Given the description of an element on the screen output the (x, y) to click on. 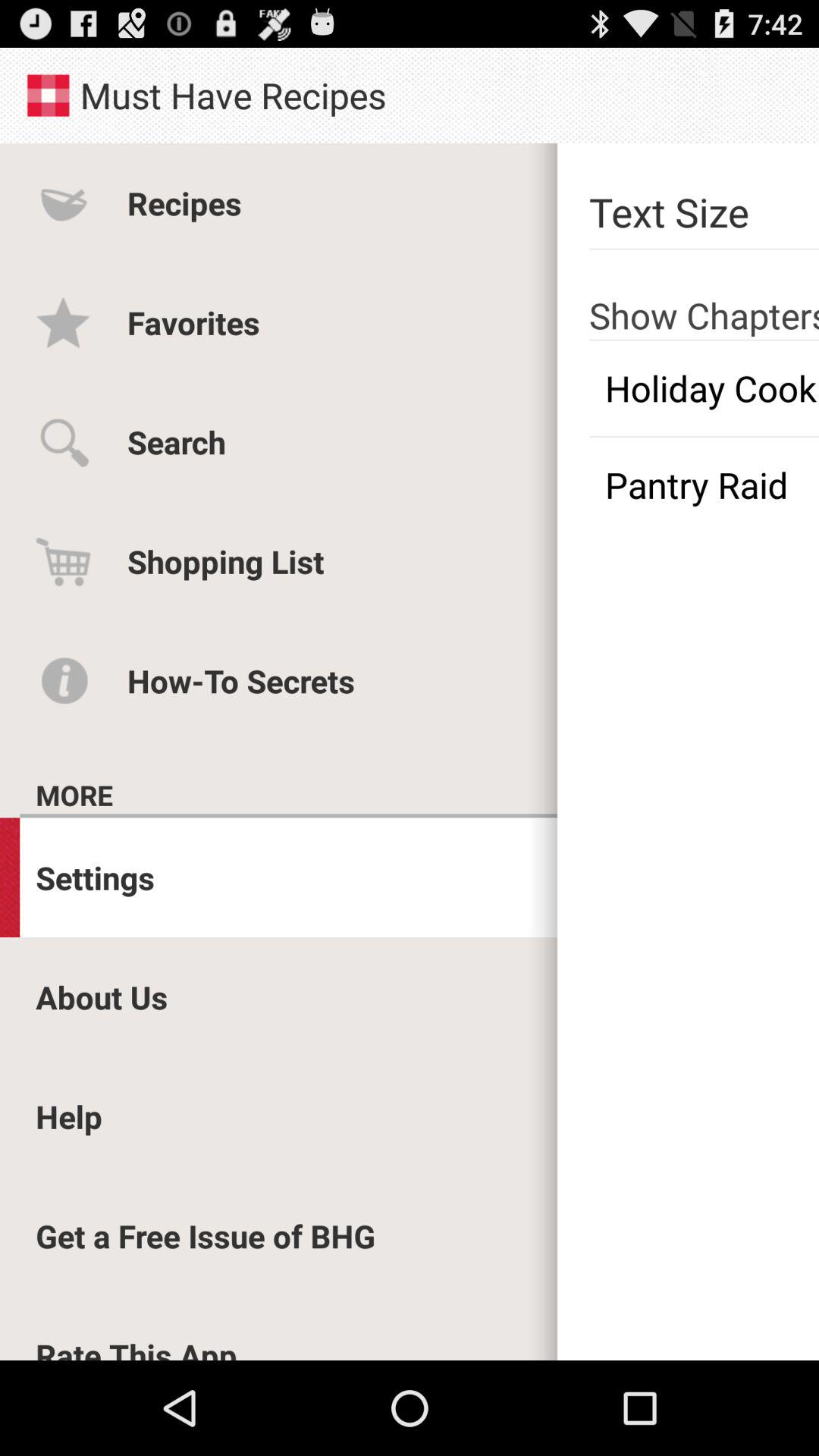
tap icon to the right of shopping list (704, 484)
